Given the description of an element on the screen output the (x, y) to click on. 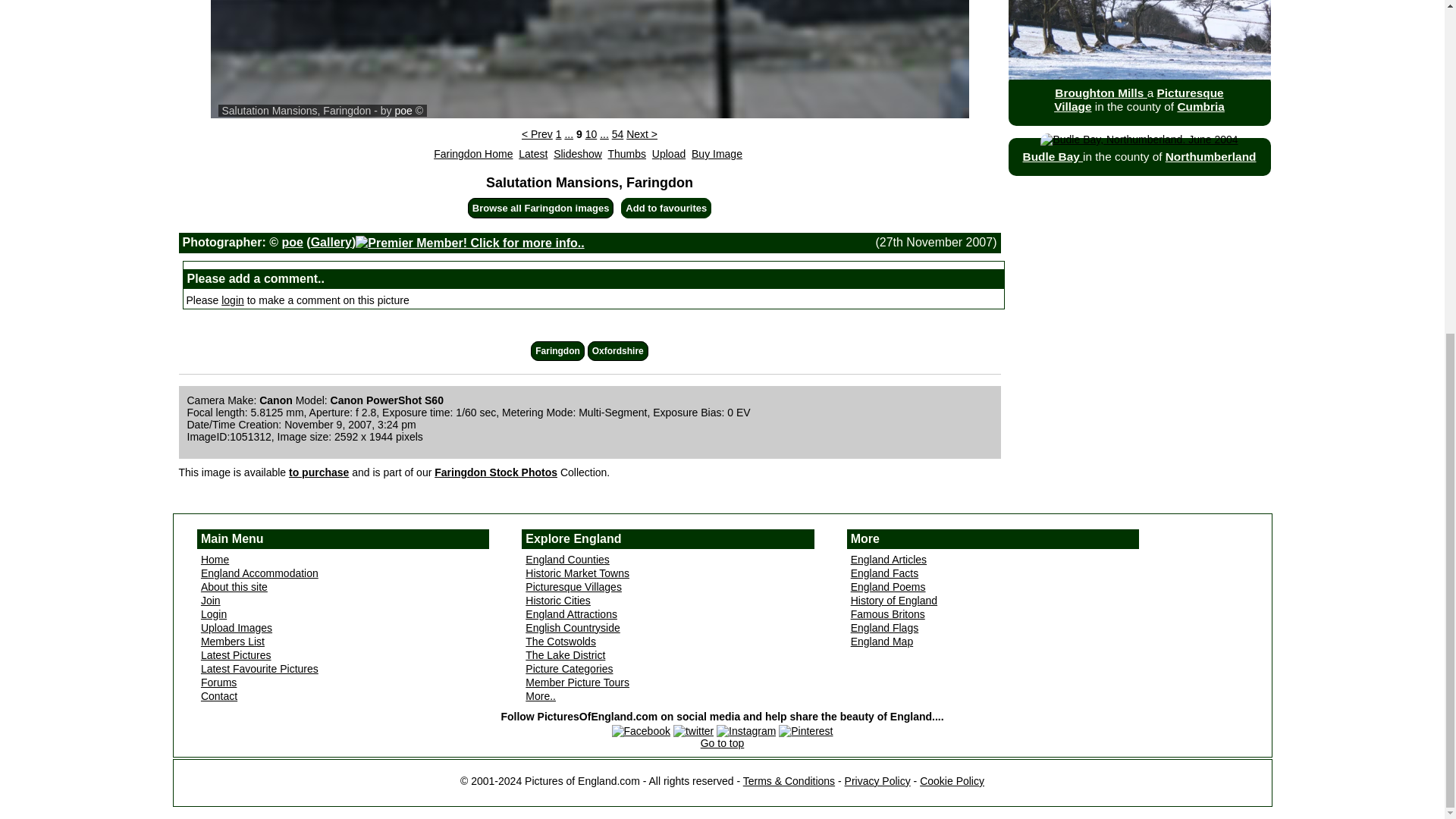
Click to buy this photo of Faringdon (716, 153)
Click to buy this photo of Faringdon (318, 472)
